Given the description of an element on the screen output the (x, y) to click on. 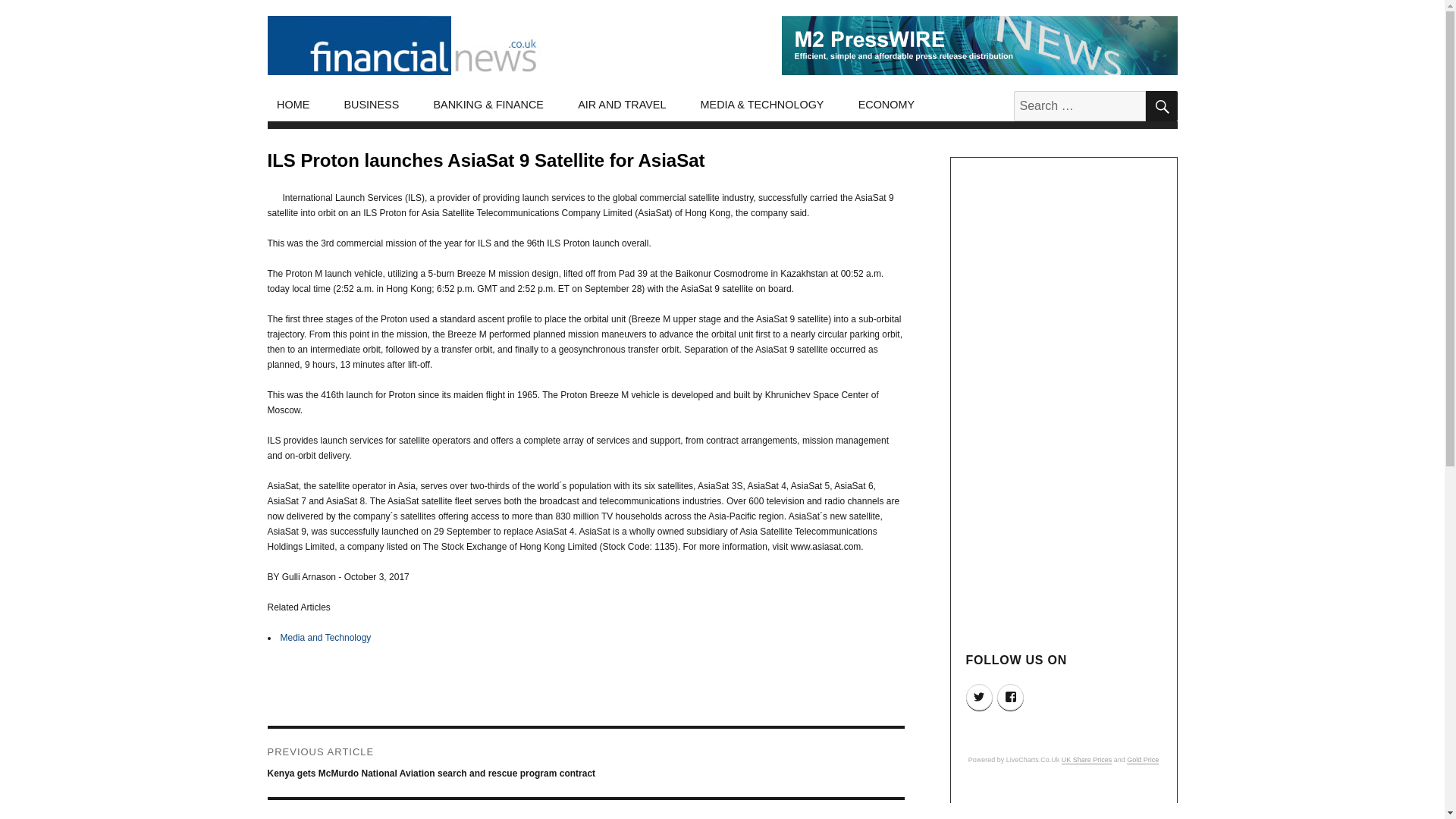
UK Share Prices (1086, 759)
HOME (292, 104)
ECONOMY (886, 104)
Media and Technology (326, 637)
AIR AND TRAVEL (622, 104)
Gold Price (1142, 759)
Advertisement (1065, 804)
FACEBOOK (1010, 696)
BUSINESS (371, 104)
SEARCH (1160, 105)
